Given the description of an element on the screen output the (x, y) to click on. 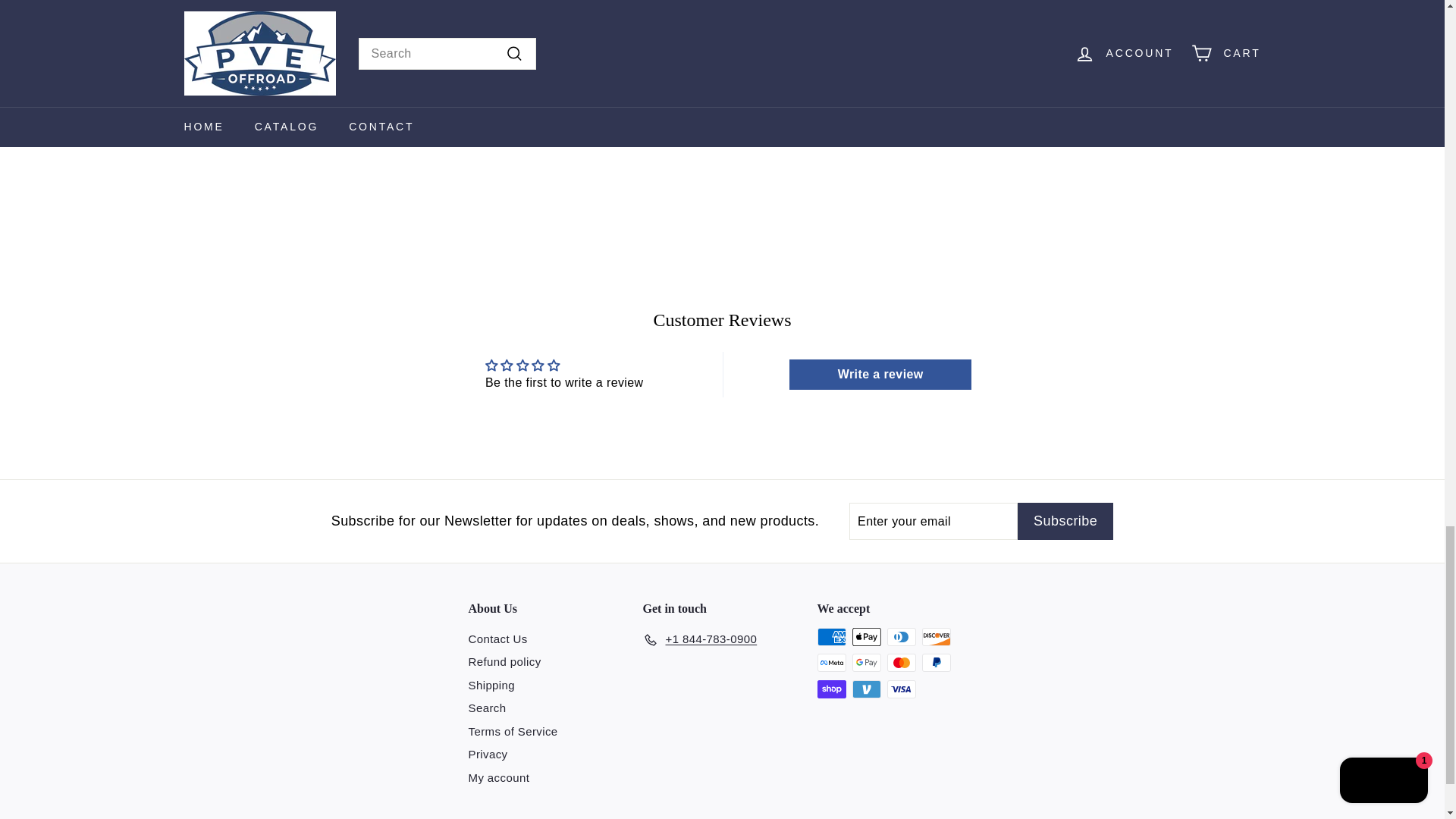
Apple Pay (865, 637)
Meta Pay (830, 662)
Discover (935, 637)
American Express (830, 637)
Mastercard (900, 662)
Google Pay (865, 662)
Diners Club (900, 637)
Shop Pay (830, 689)
PayPal (935, 662)
Venmo (865, 689)
